Given the description of an element on the screen output the (x, y) to click on. 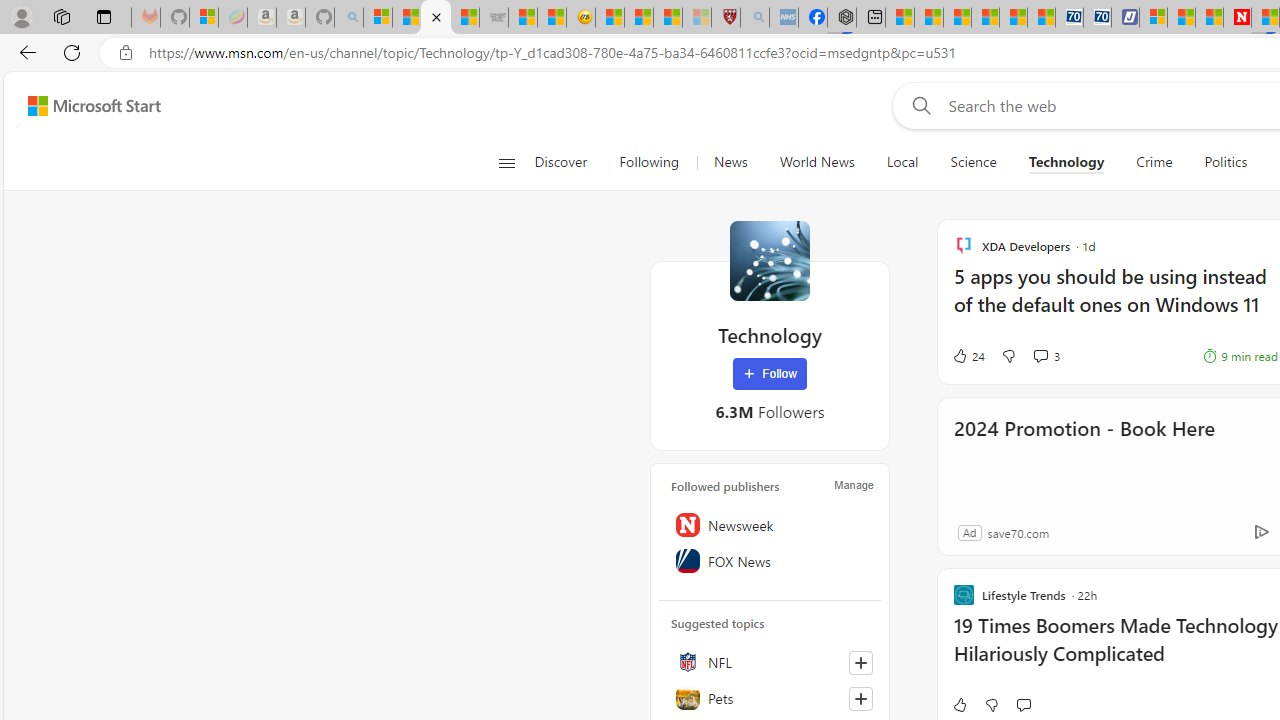
Newsweek (770, 525)
Follow this topic (860, 698)
NFL (770, 661)
